Given the description of an element on the screen output the (x, y) to click on. 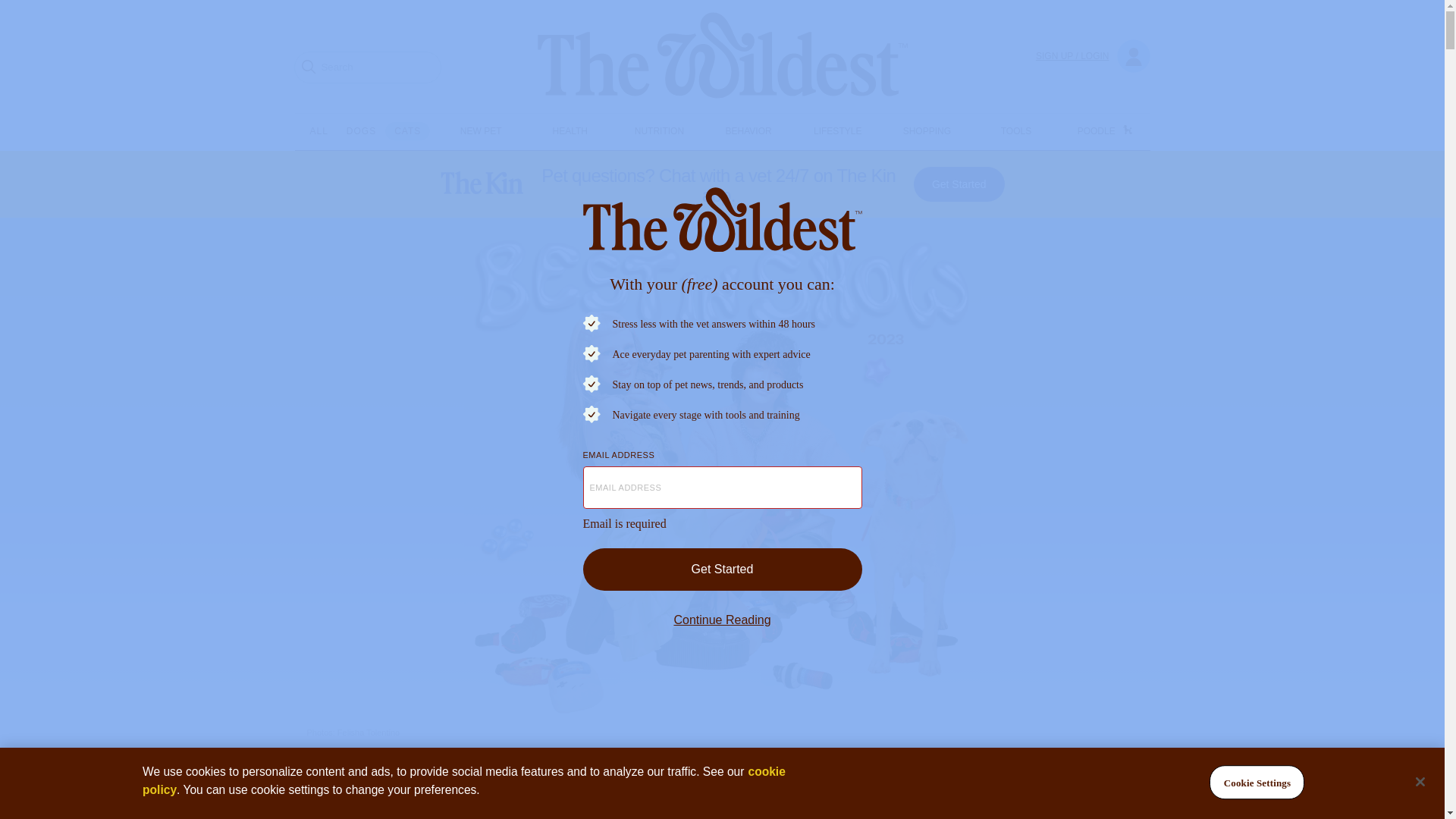
The Wildest Profile Icon (1133, 55)
NUTRITION (659, 130)
Search icon (307, 67)
DOGS (361, 130)
BEHAVIOR (748, 130)
CATS (407, 131)
The Wildest Profile Icon (1133, 56)
POODLE (1127, 128)
ALL (317, 130)
HEALTH (569, 130)
The Wildest home (722, 56)
Search icon (307, 66)
The Wildest Logo (721, 220)
Skip to main content (5, 6)
LIFESTYLE (837, 130)
